Given the description of an element on the screen output the (x, y) to click on. 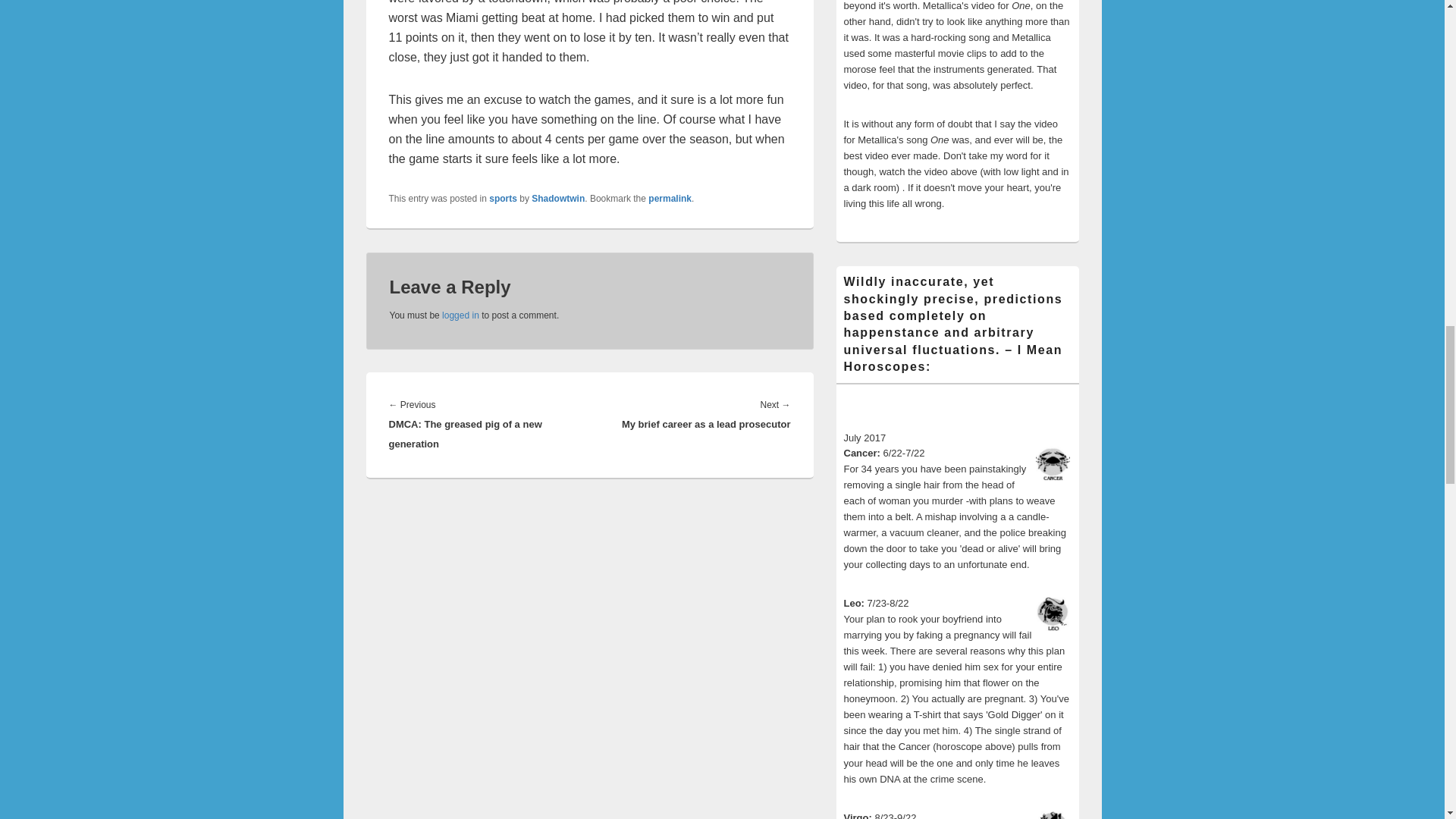
sports (502, 198)
Shadowtwin (558, 198)
logged in (460, 315)
permalink (669, 198)
Permalink to Am I ready for some football? (669, 198)
